Given the description of an element on the screen output the (x, y) to click on. 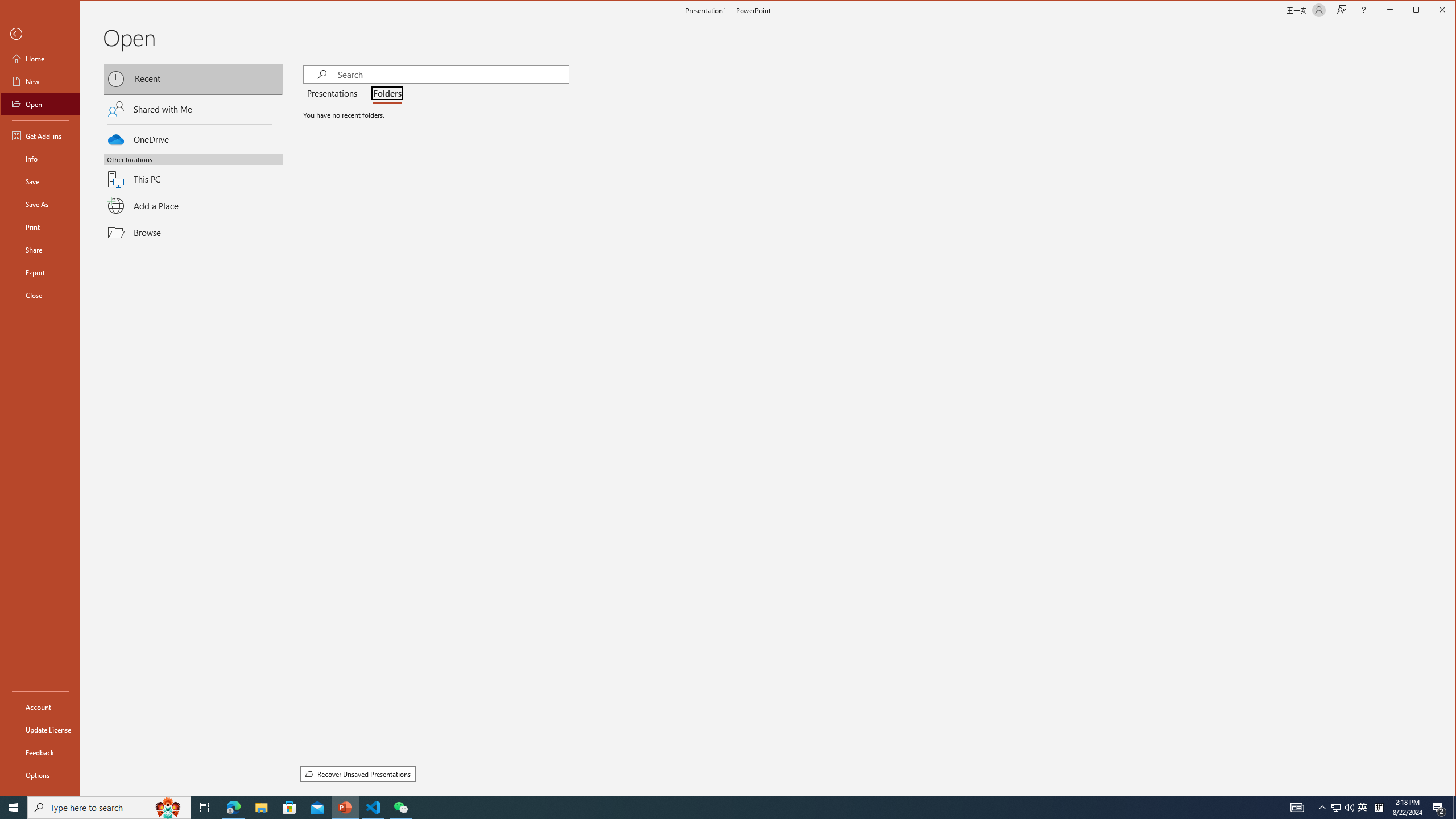
Shared with Me (193, 109)
Back (40, 34)
Export (40, 272)
Folders (384, 94)
New (40, 80)
Get Add-ins (40, 135)
This PC (193, 172)
WeChat - 1 running window (400, 807)
Feedback (40, 752)
